Given the description of an element on the screen output the (x, y) to click on. 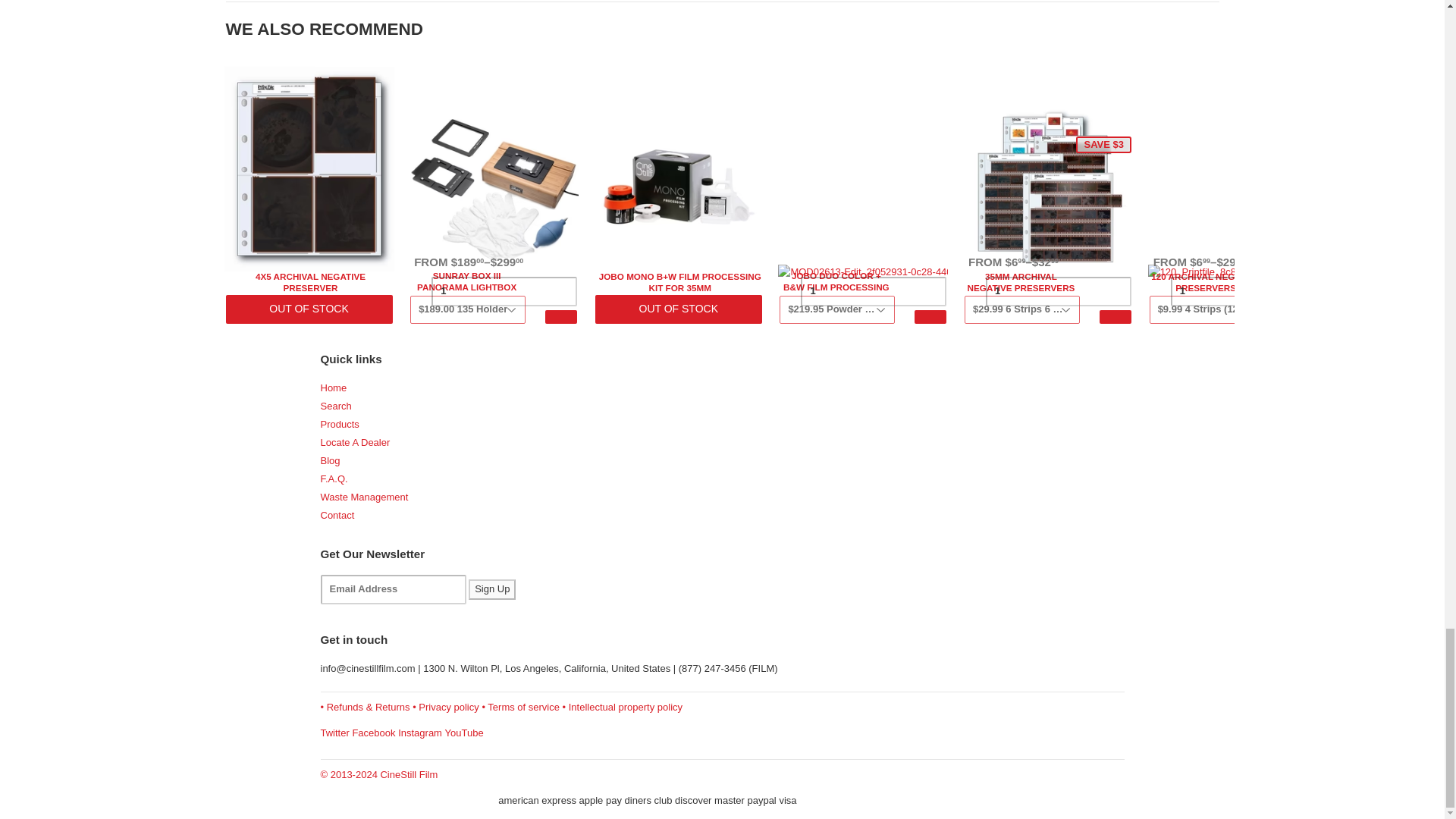
1 (873, 290)
1 (1058, 290)
1 (1243, 290)
CineStill Film on YouTube (464, 732)
CineStill Film on Instagram (419, 732)
1 (503, 290)
CineStill Film on Facebook (373, 732)
CineStill Film on Twitter (334, 732)
